Given the description of an element on the screen output the (x, y) to click on. 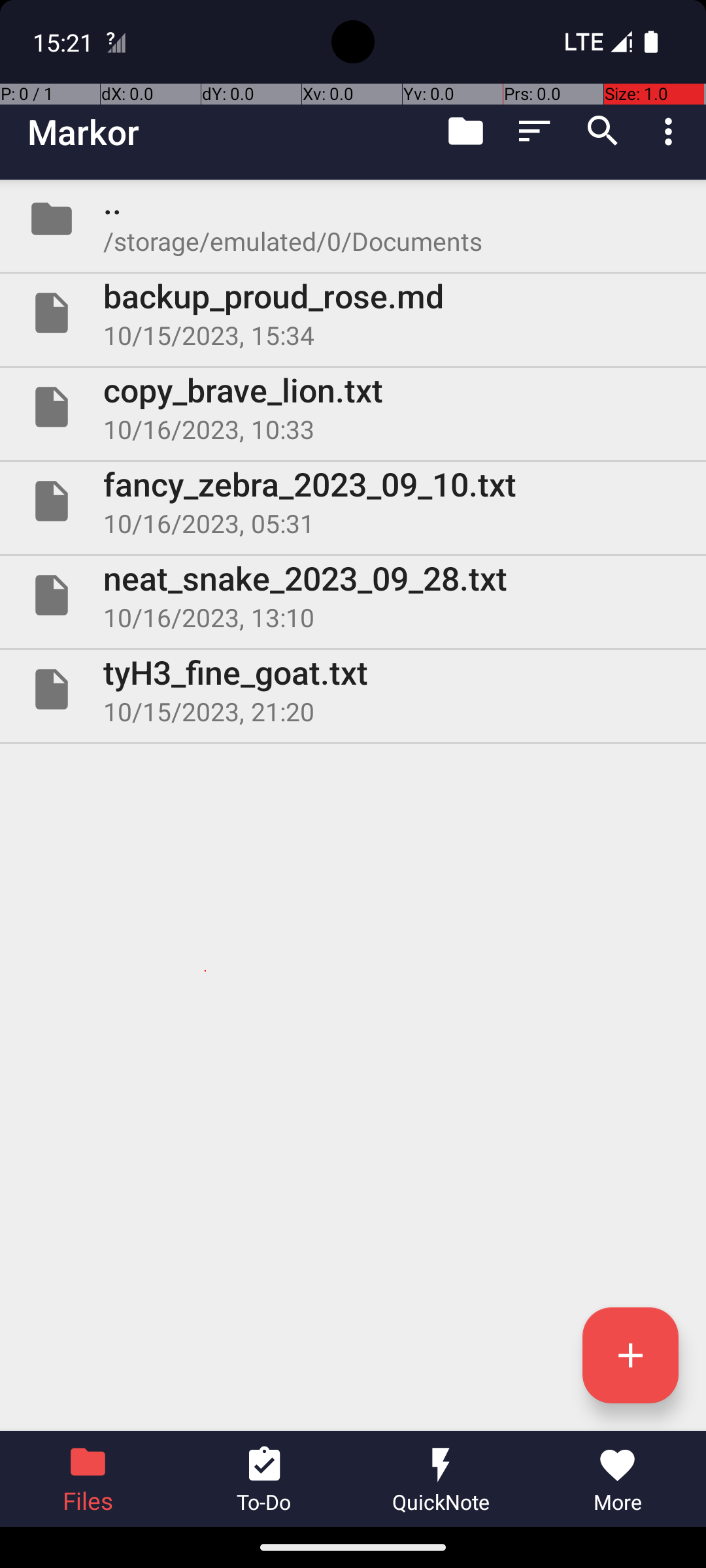
File backup_proud_rose.md  Element type: android.widget.LinearLayout (353, 312)
File copy_brave_lion.txt  Element type: android.widget.LinearLayout (353, 406)
File fancy_zebra_2023_09_10.txt  Element type: android.widget.LinearLayout (353, 500)
File neat_snake_2023_09_28.txt  Element type: android.widget.LinearLayout (353, 594)
File tyH3_fine_goat.txt  Element type: android.widget.LinearLayout (353, 689)
15:21 Element type: android.widget.TextView (64, 41)
